Given the description of an element on the screen output the (x, y) to click on. 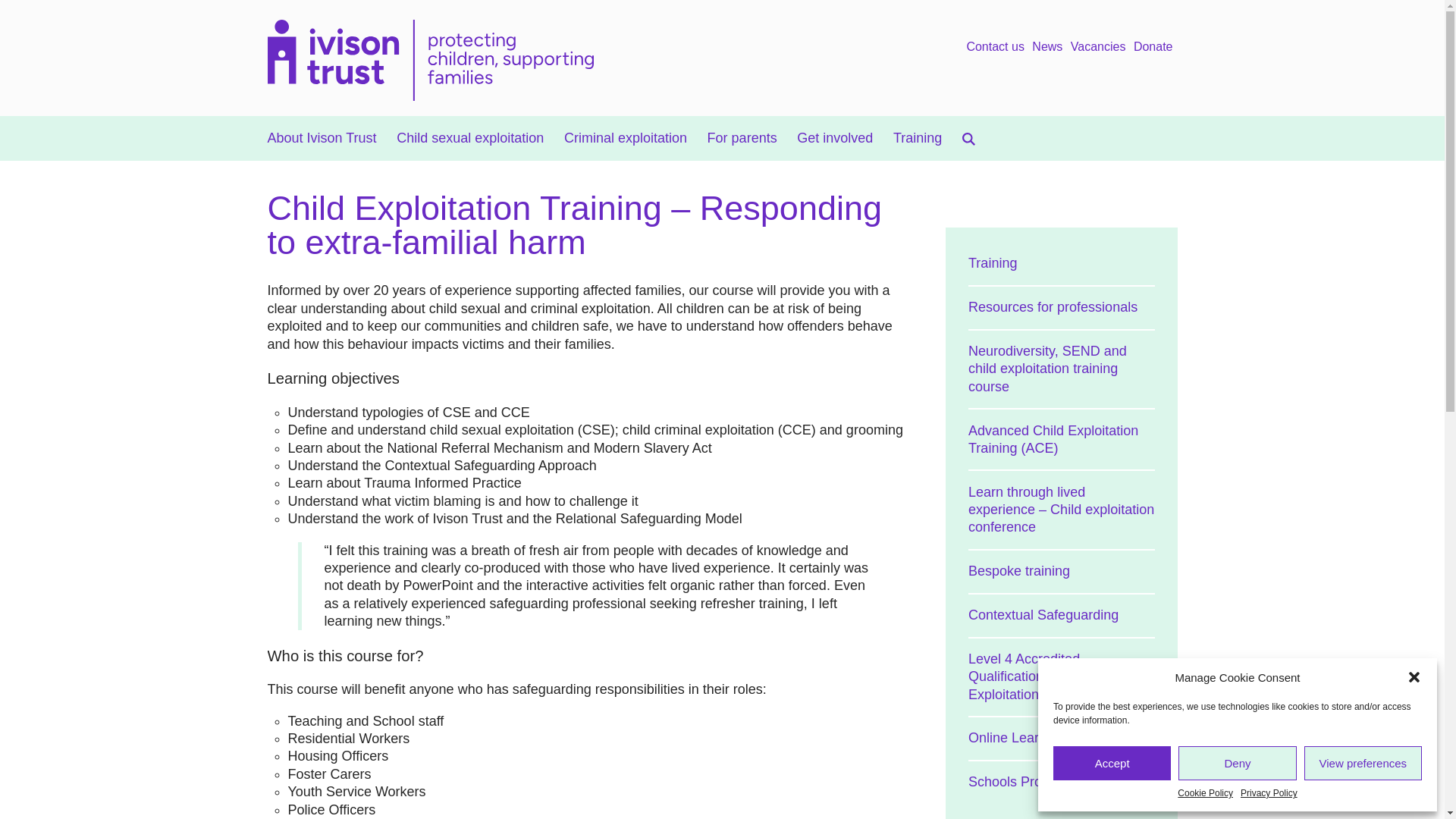
Contextual Safeguarding (1061, 614)
View preferences (1363, 763)
Donate (1153, 47)
About Ivison Trust (320, 138)
Get involved (834, 138)
Accept (1111, 763)
News (1047, 47)
Privacy Policy (1268, 793)
Bespoke training (1061, 570)
Training (917, 138)
Cookie Policy (1205, 793)
Resources for professionals (1061, 307)
Neurodiversity, SEND and child exploitation training course (1061, 368)
Training (1061, 263)
For parents (742, 138)
